Given the description of an element on the screen output the (x, y) to click on. 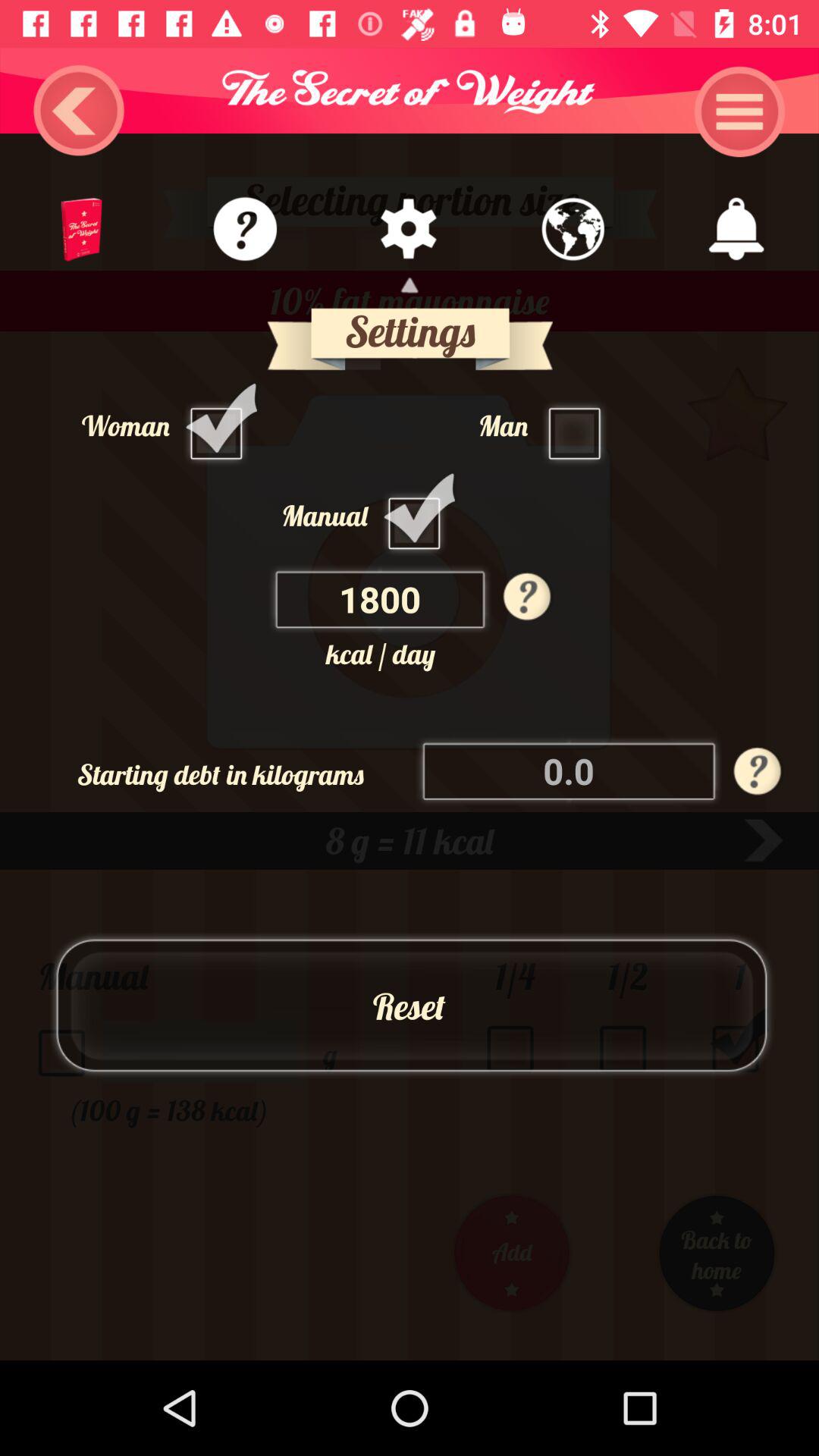
toggle man (578, 425)
